Given the description of an element on the screen output the (x, y) to click on. 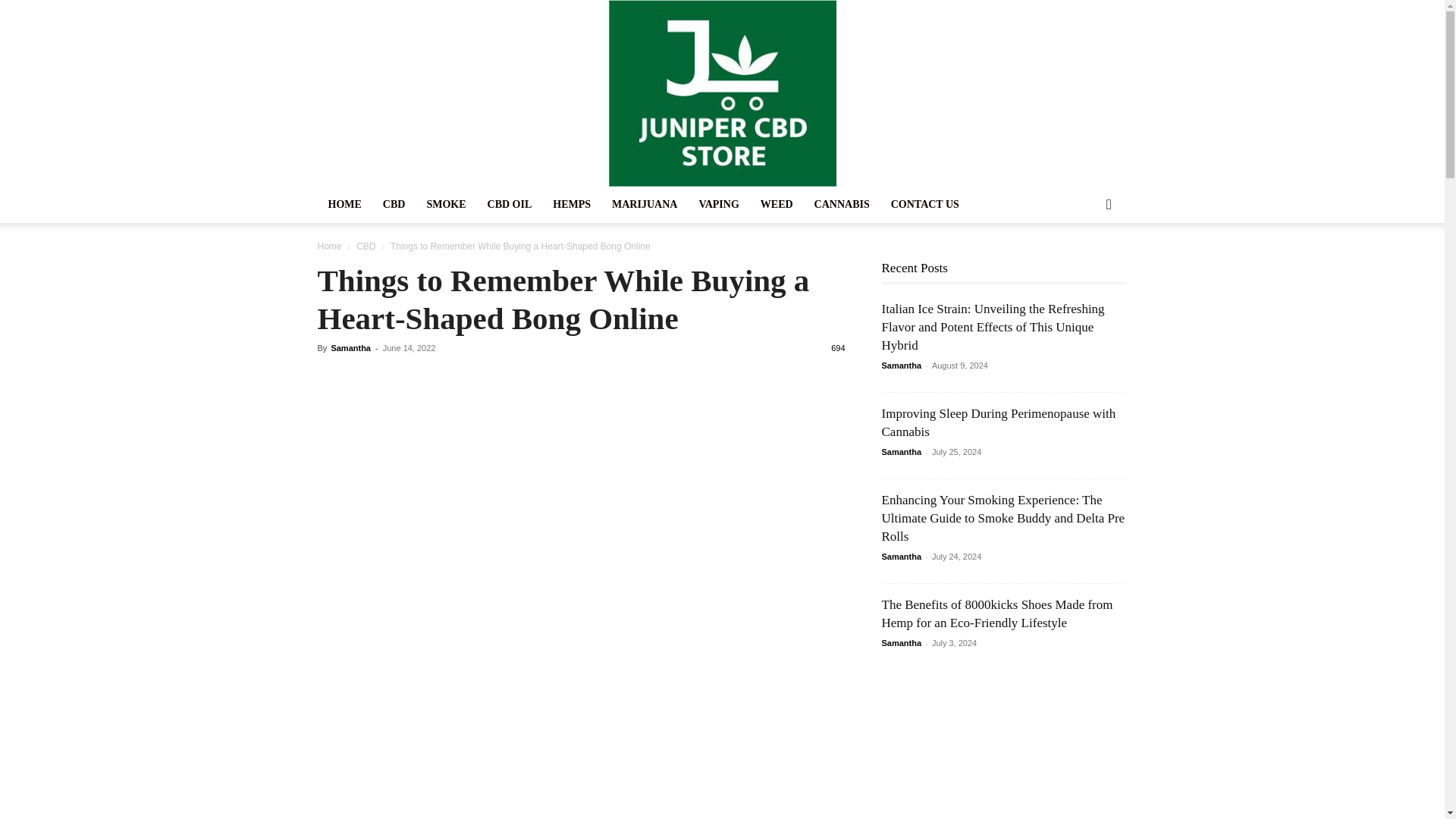
CANNABIS (841, 204)
MARIJUANA (644, 204)
CBD (394, 204)
SMOKE (445, 204)
CBD (365, 245)
Search (1085, 265)
Home (328, 245)
HEMPS (571, 204)
CBD OIL (510, 204)
HOME (344, 204)
